Given the description of an element on the screen output the (x, y) to click on. 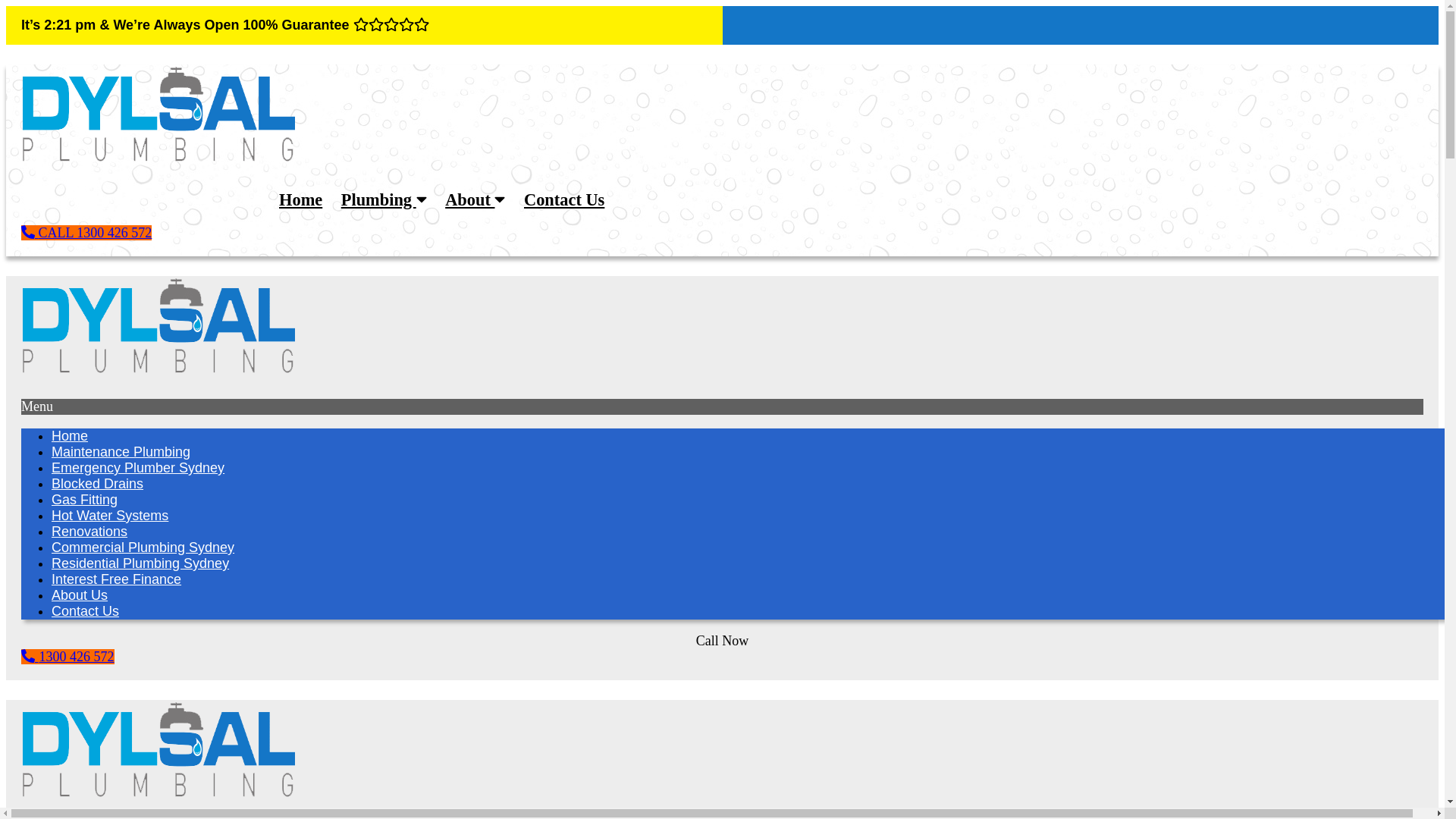
Renovations Element type: text (89, 531)
Interest Free Finance Element type: text (116, 578)
About Us Element type: text (79, 594)
Gas Fitting Element type: text (84, 499)
Contact Us Element type: text (563, 199)
Emergency Plumber Sydney Element type: text (137, 467)
Servicing Sydney Element type: text (1373, 51)
Home Element type: text (300, 199)
Commercial Plumbing Sydney Element type: text (142, 547)
Plumbing Element type: text (383, 199)
CALL 1300 426 572 Element type: text (86, 232)
Reviews Element type: text (1081, 51)
About Element type: text (474, 199)
Home Element type: text (69, 435)
Maintenance Plumbing Element type: text (120, 451)
0% Interest Free Finance Element type: text (1203, 51)
Contact Us Element type: text (85, 610)
Residential Plumbing Sydney Element type: text (140, 563)
1300 426 572 Element type: text (67, 656)
Hot Water Systems Element type: text (109, 515)
Blocked Drains Element type: text (97, 483)
